Given the description of an element on the screen output the (x, y) to click on. 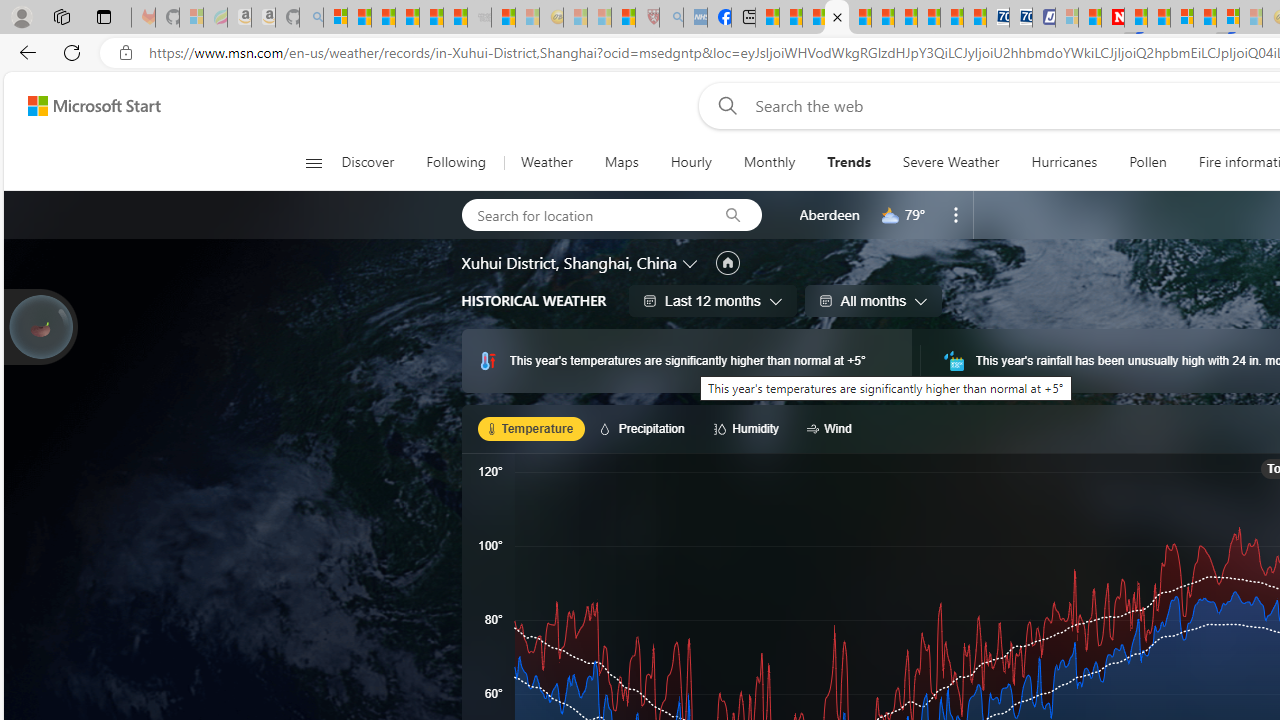
The Weather Channel - MSN (383, 17)
Aberdeen (829, 214)
Set as primary location (727, 263)
Join us in planting real trees to help our planet! (40, 327)
Hurricanes (1064, 162)
